Given the description of an element on the screen output the (x, y) to click on. 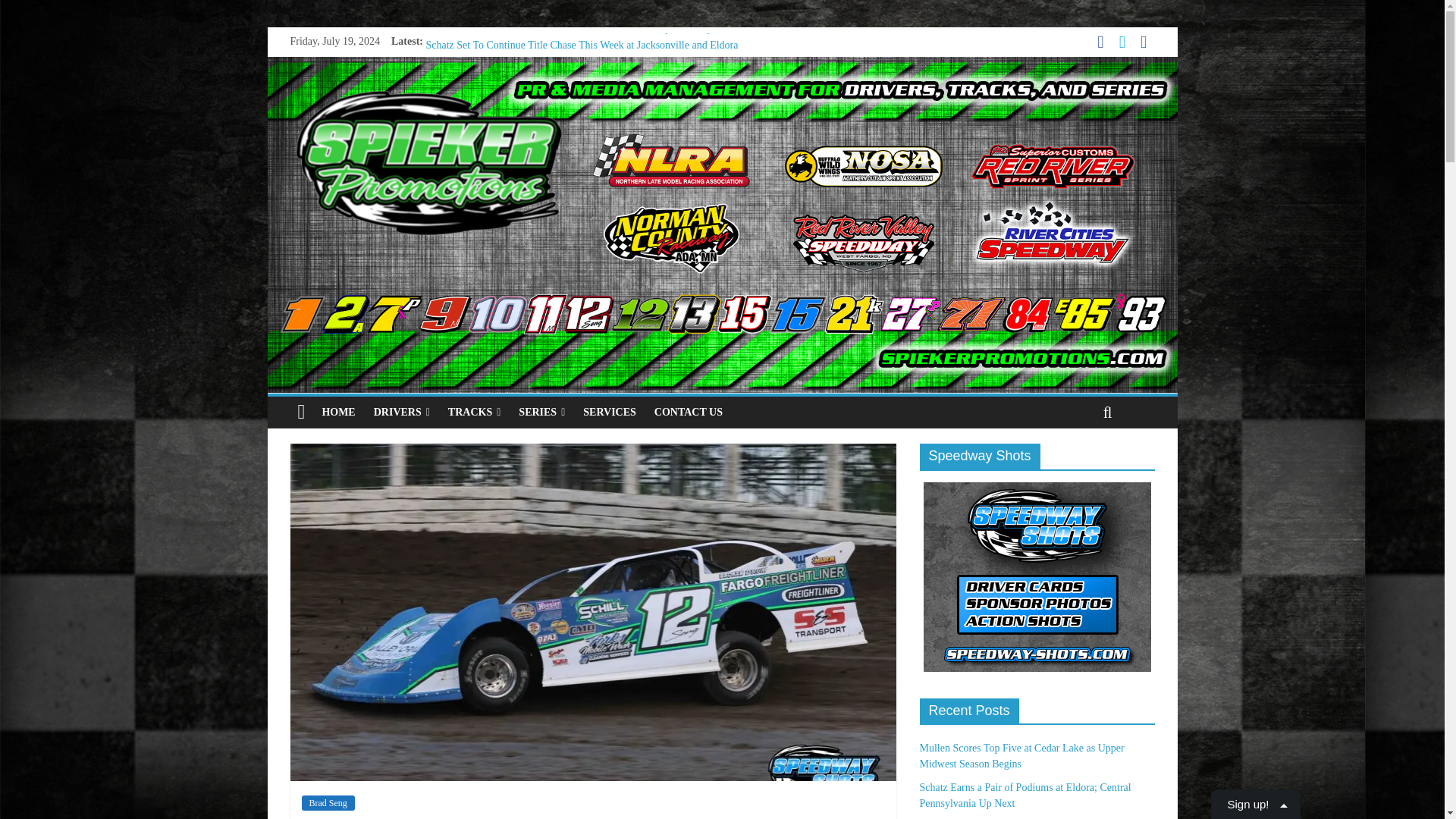
SERIES (541, 412)
SERVICES (609, 412)
Schatz Closes Gap in Title Chase; Knoxville up next (537, 61)
TRACKS (474, 412)
DRIVERS (402, 412)
Brad Seng (328, 802)
CONTACT US (688, 412)
Schatz Closes Gap in Title Chase; Knoxville up next (537, 61)
